Given the description of an element on the screen output the (x, y) to click on. 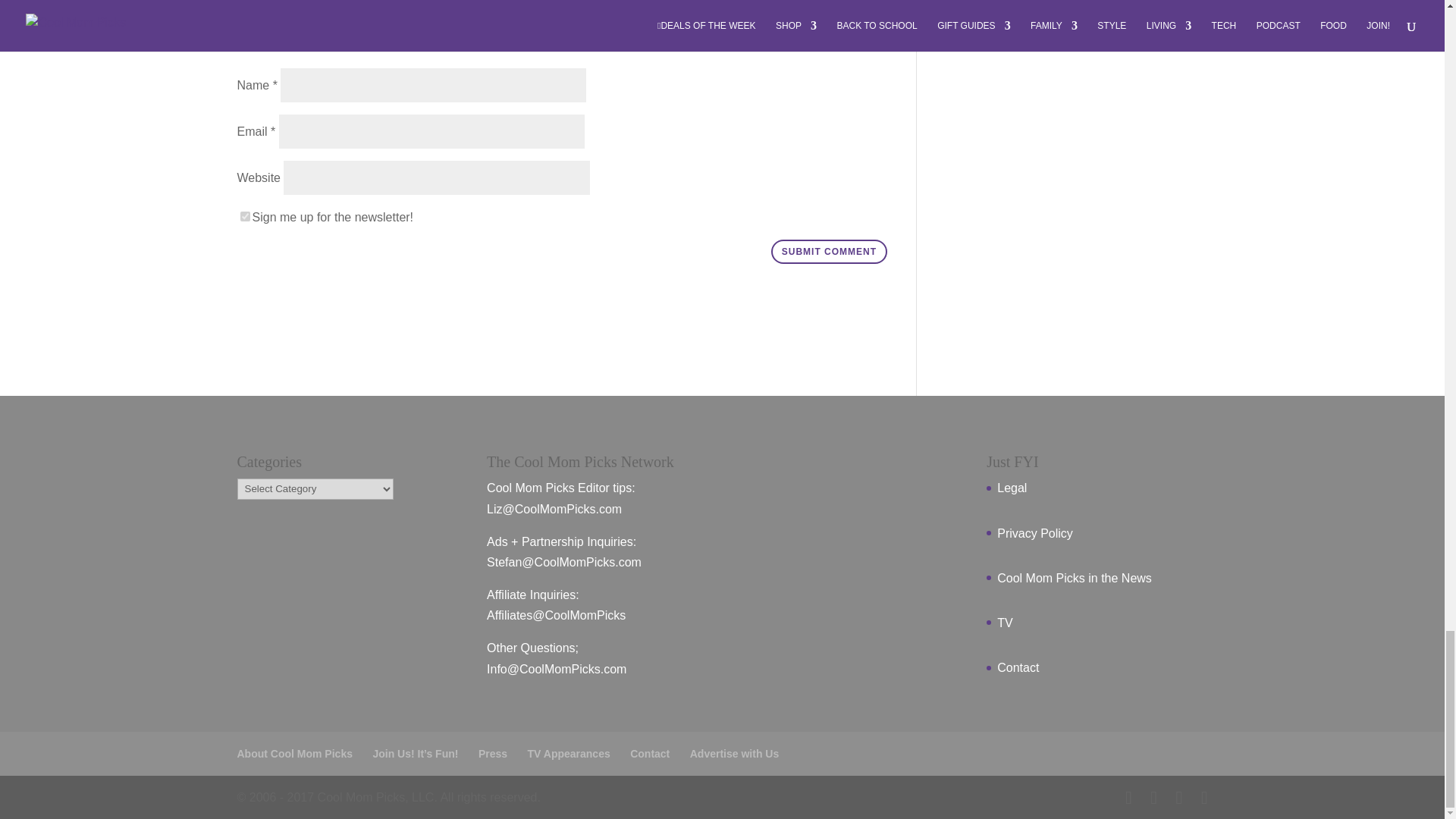
1 (244, 216)
About Cool Mom Picks (293, 753)
Submit Comment (828, 251)
